Given the description of an element on the screen output the (x, y) to click on. 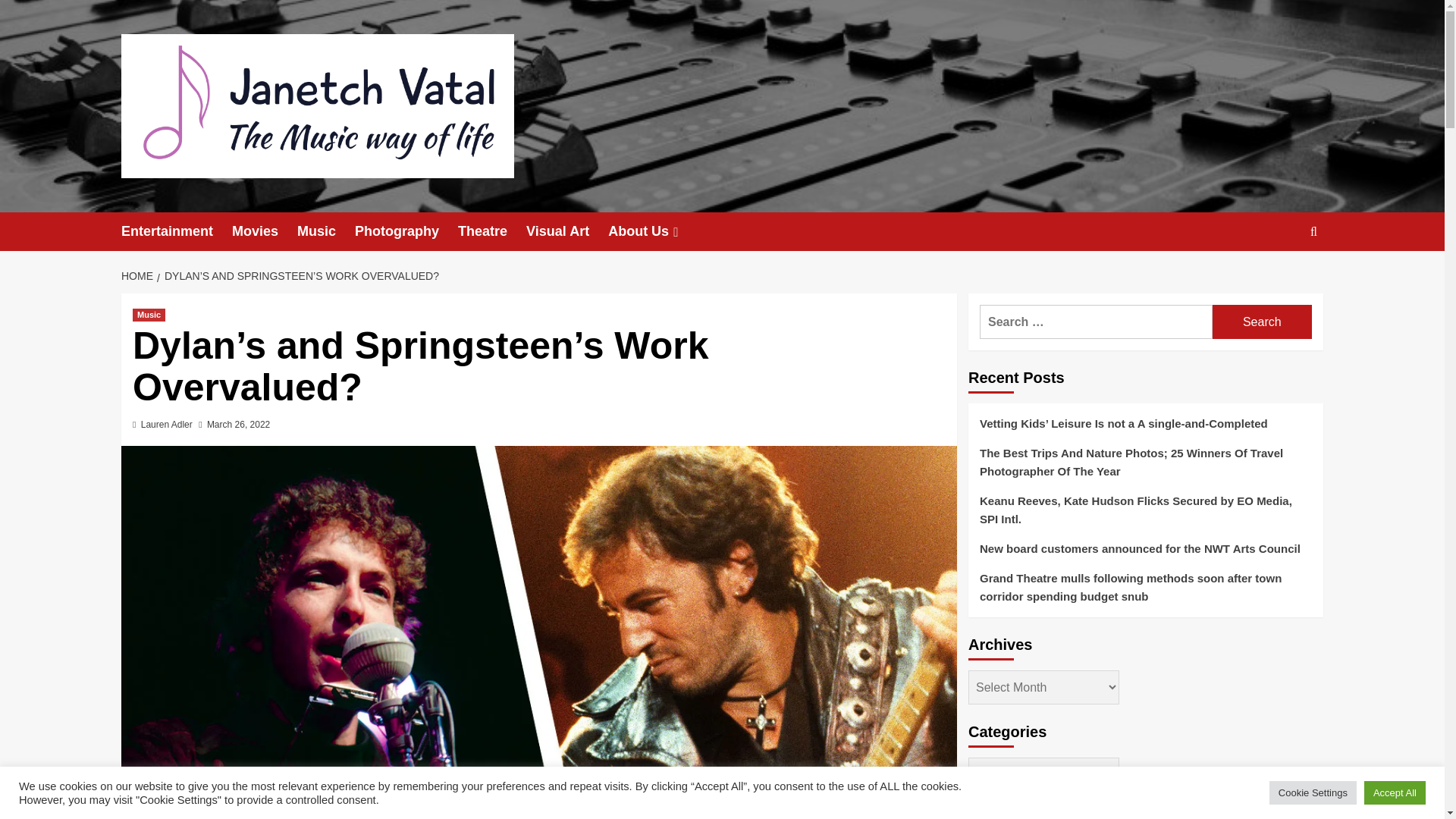
Theatre (491, 231)
Search (1278, 278)
Search (1261, 321)
Search (1261, 321)
Music (326, 231)
Movies (264, 231)
HOME (138, 275)
Visual Art (566, 231)
About Us (654, 231)
Entertainment (175, 231)
